Given the description of an element on the screen output the (x, y) to click on. 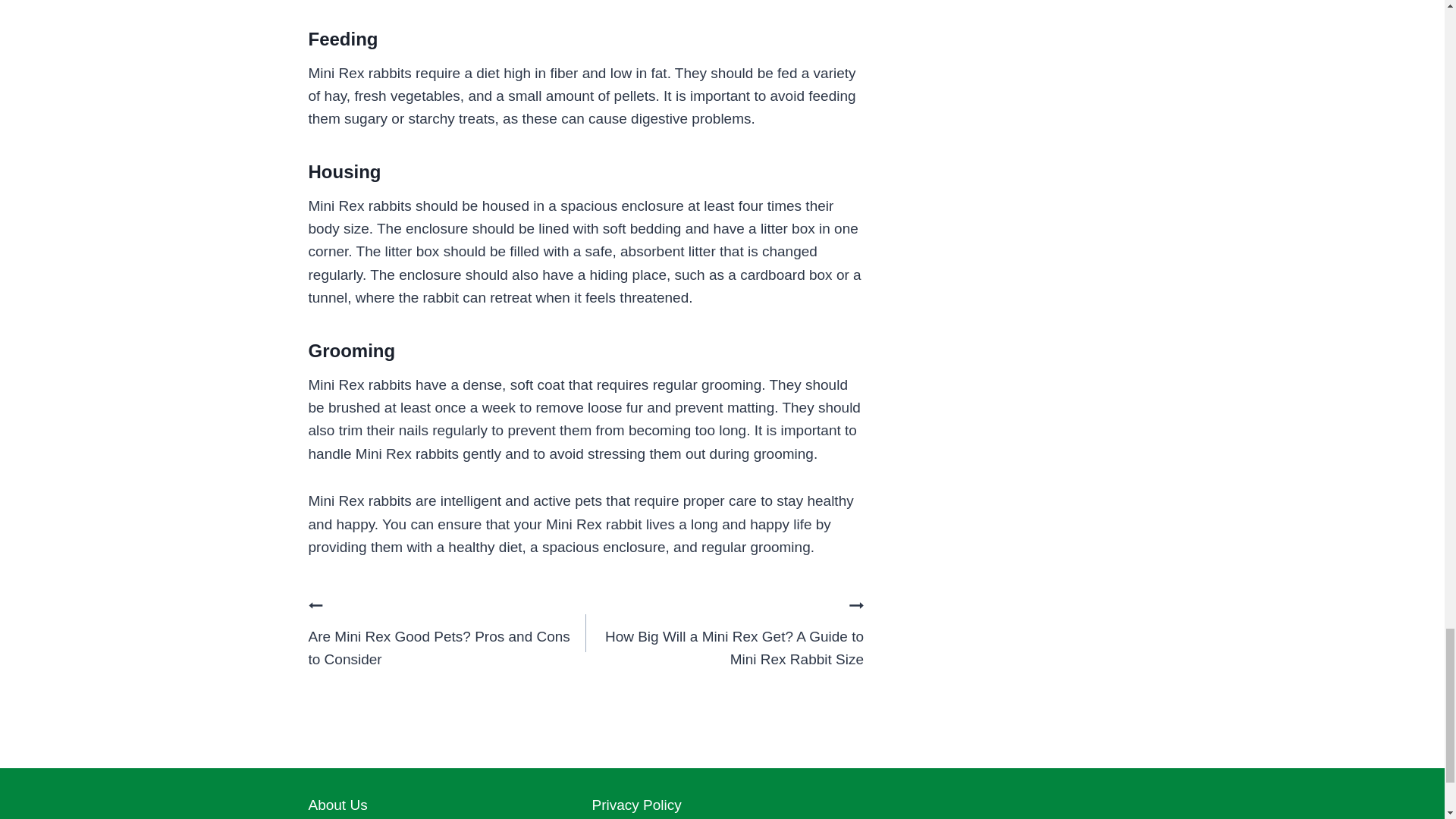
  Are Mini Rex Good Pets? Pros and Cons to Consider (446, 633)
Privacy Policy (721, 805)
About Us (438, 805)
